Given the description of an element on the screen output the (x, y) to click on. 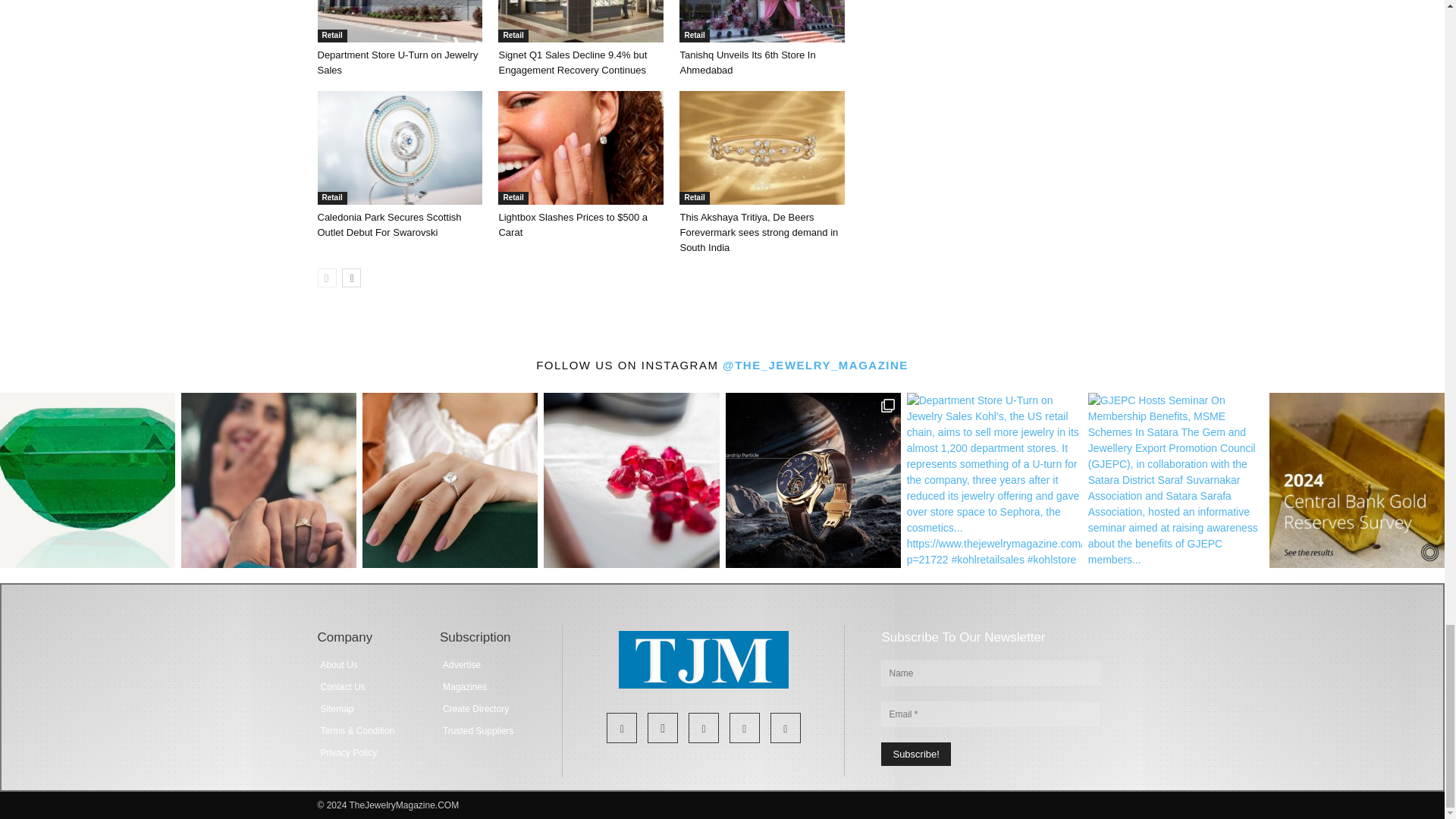
Subscribe! (915, 753)
